Given the description of an element on the screen output the (x, y) to click on. 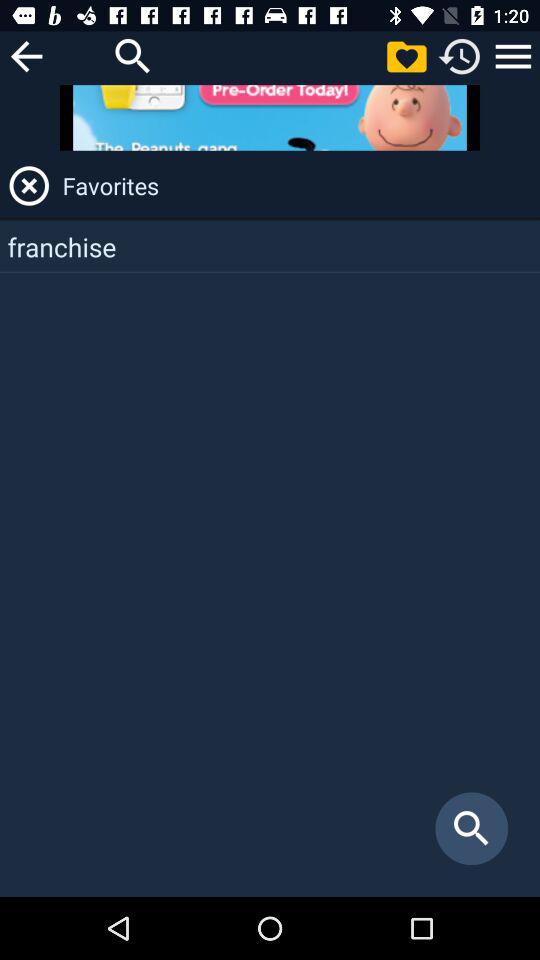
it indicates the unfavorite icon (29, 185)
